Given the description of an element on the screen output the (x, y) to click on. 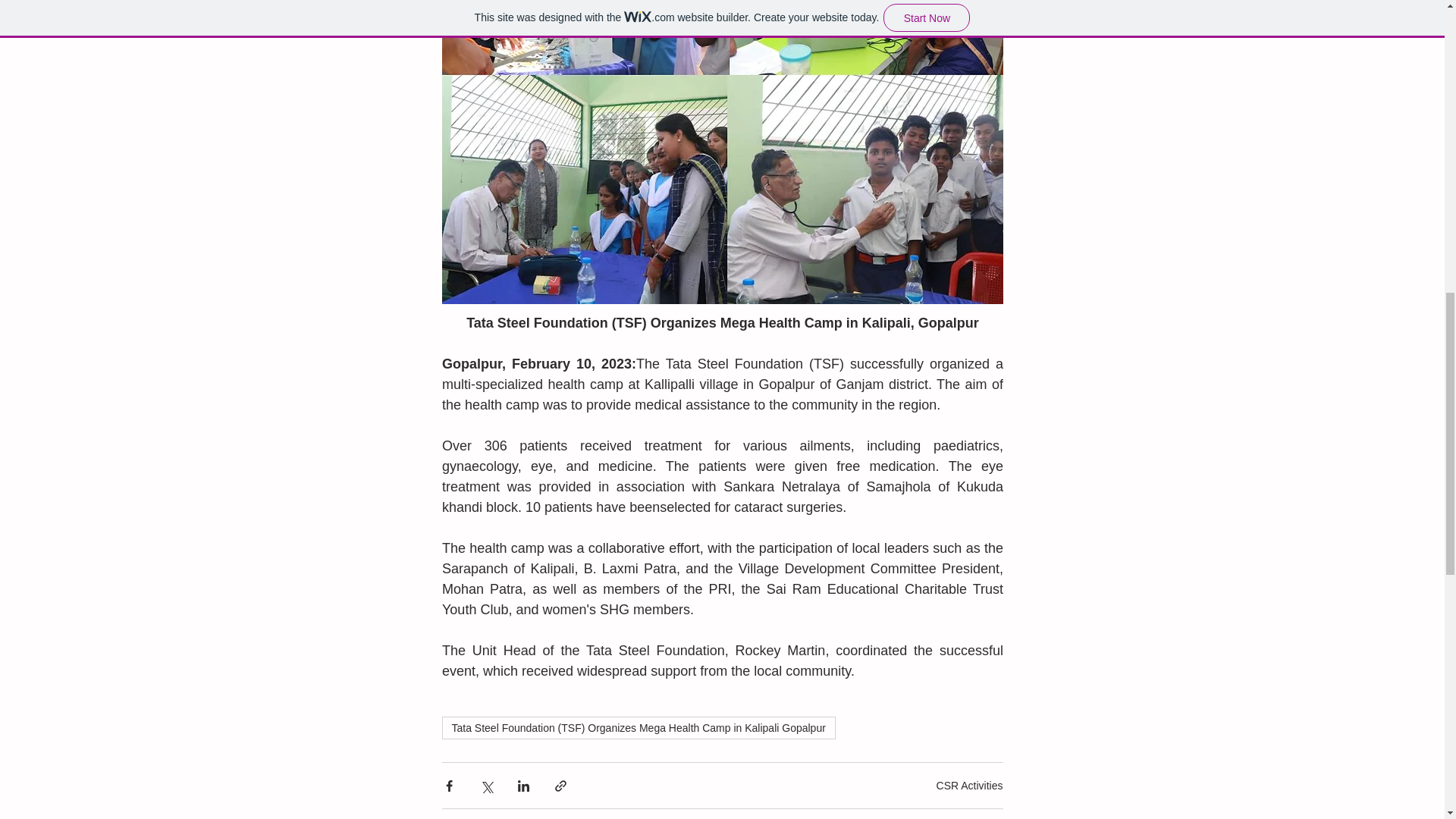
CSR Activities (969, 785)
